Given the description of an element on the screen output the (x, y) to click on. 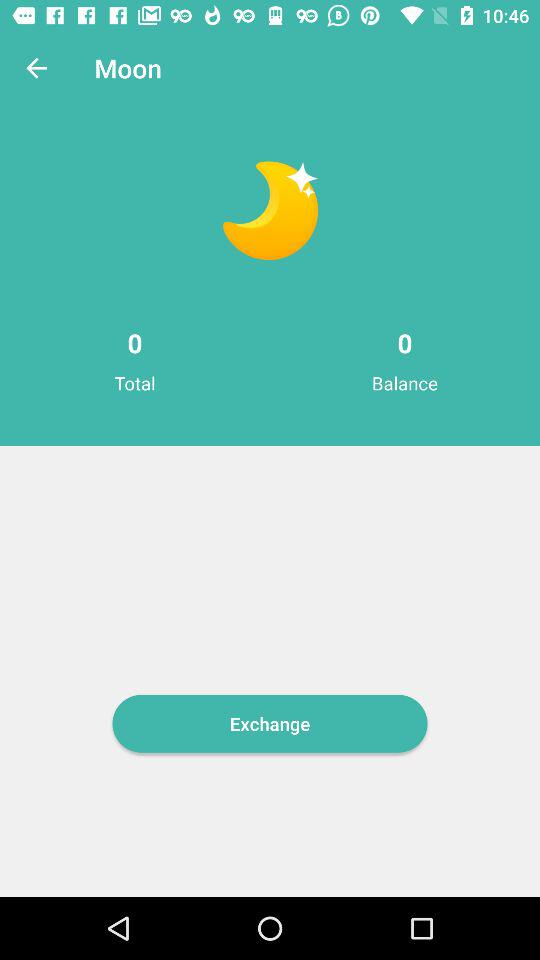
choose the icon to the left of moon (36, 68)
